Given the description of an element on the screen output the (x, y) to click on. 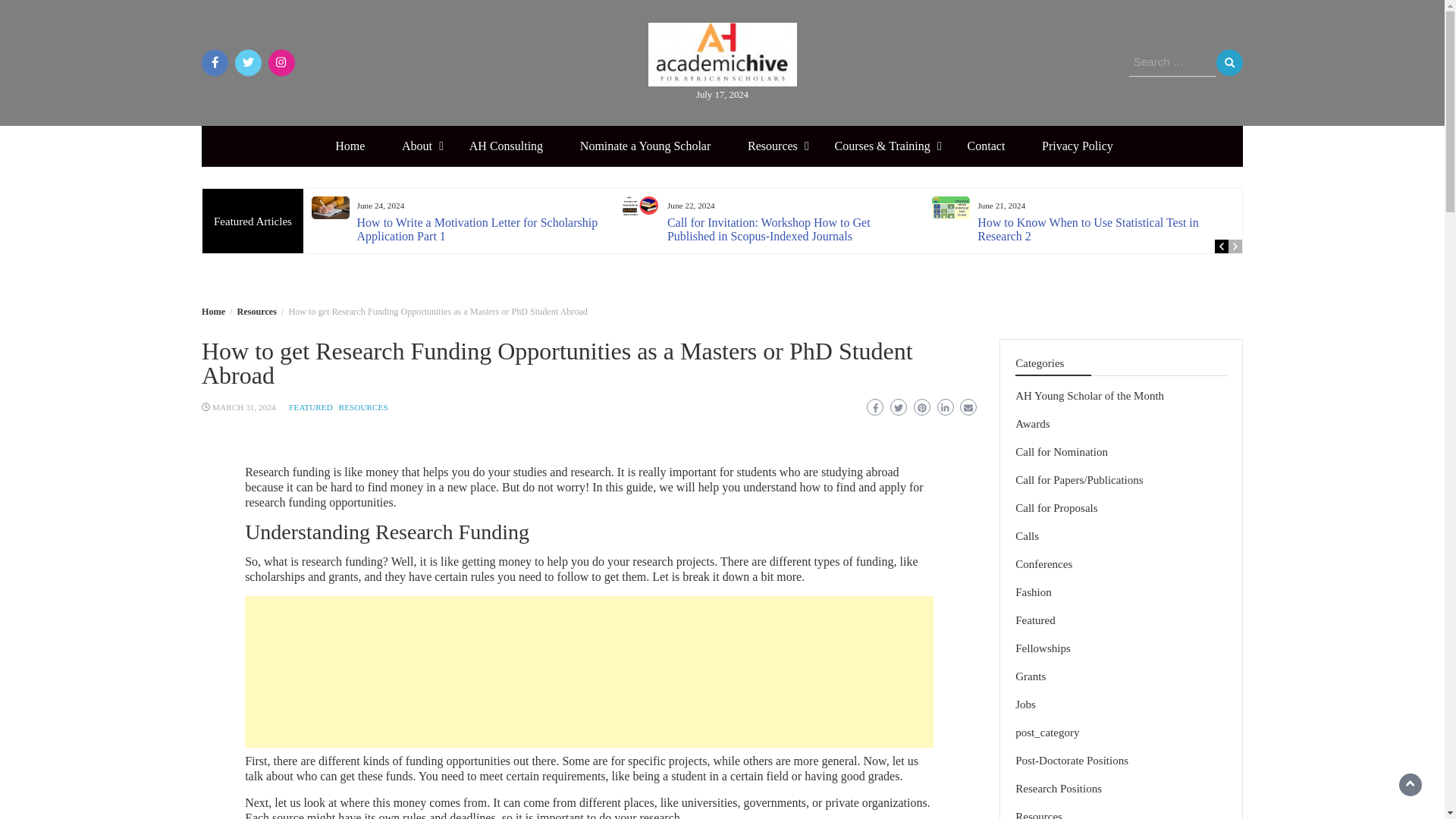
Nominate a Young Scholar (644, 146)
How to Know When to Use Statistical Test in Research 2 (1087, 229)
Contact (986, 146)
Search (1229, 62)
Search for: (1172, 62)
Resources (772, 146)
Home (350, 146)
Search (1229, 62)
FEATURED (310, 406)
About (416, 146)
Search (1229, 62)
Resources (256, 311)
